Given the description of an element on the screen output the (x, y) to click on. 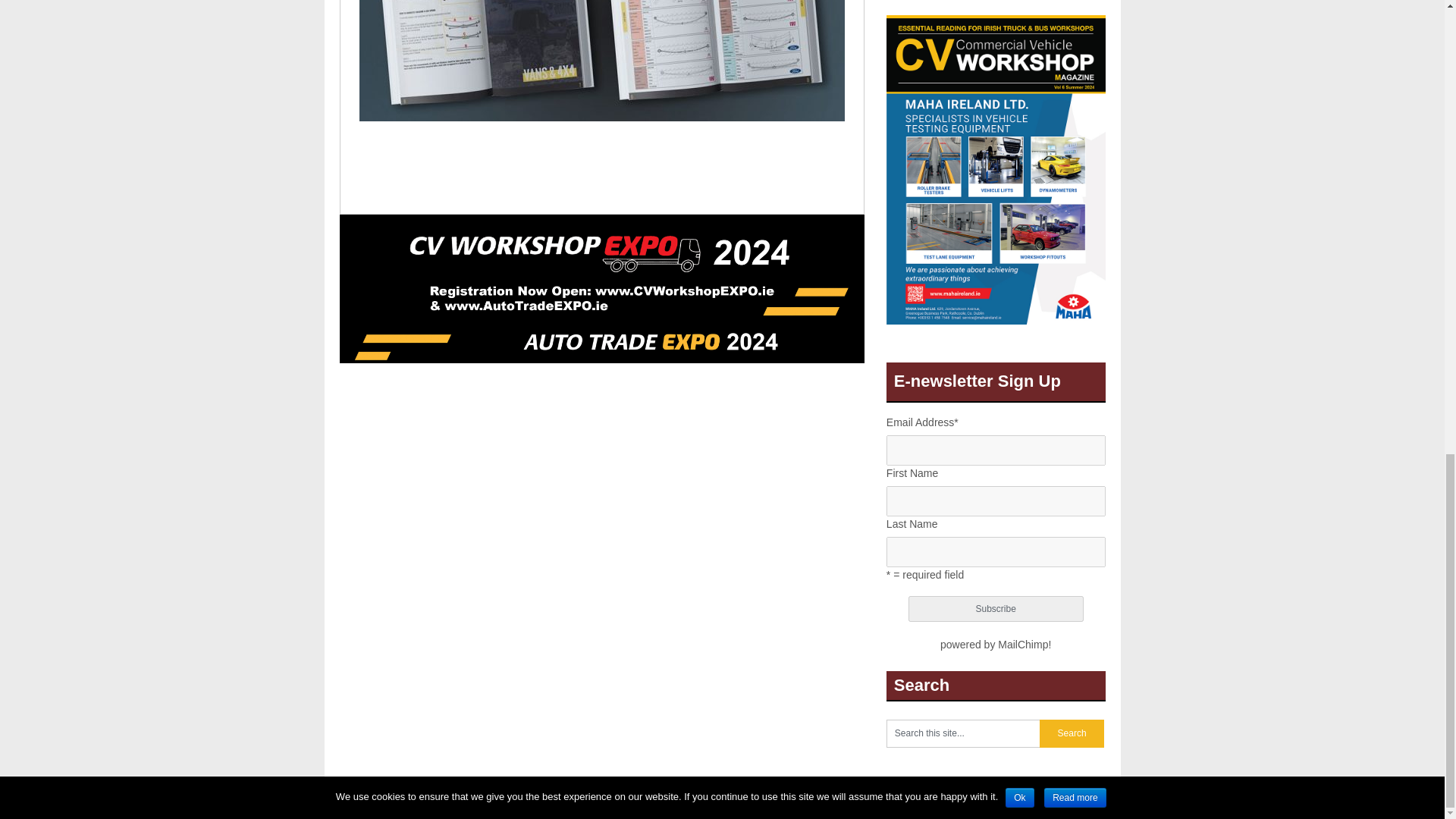
Search this site... (962, 733)
Subscribe (995, 608)
Search (1071, 733)
